Given the description of an element on the screen output the (x, y) to click on. 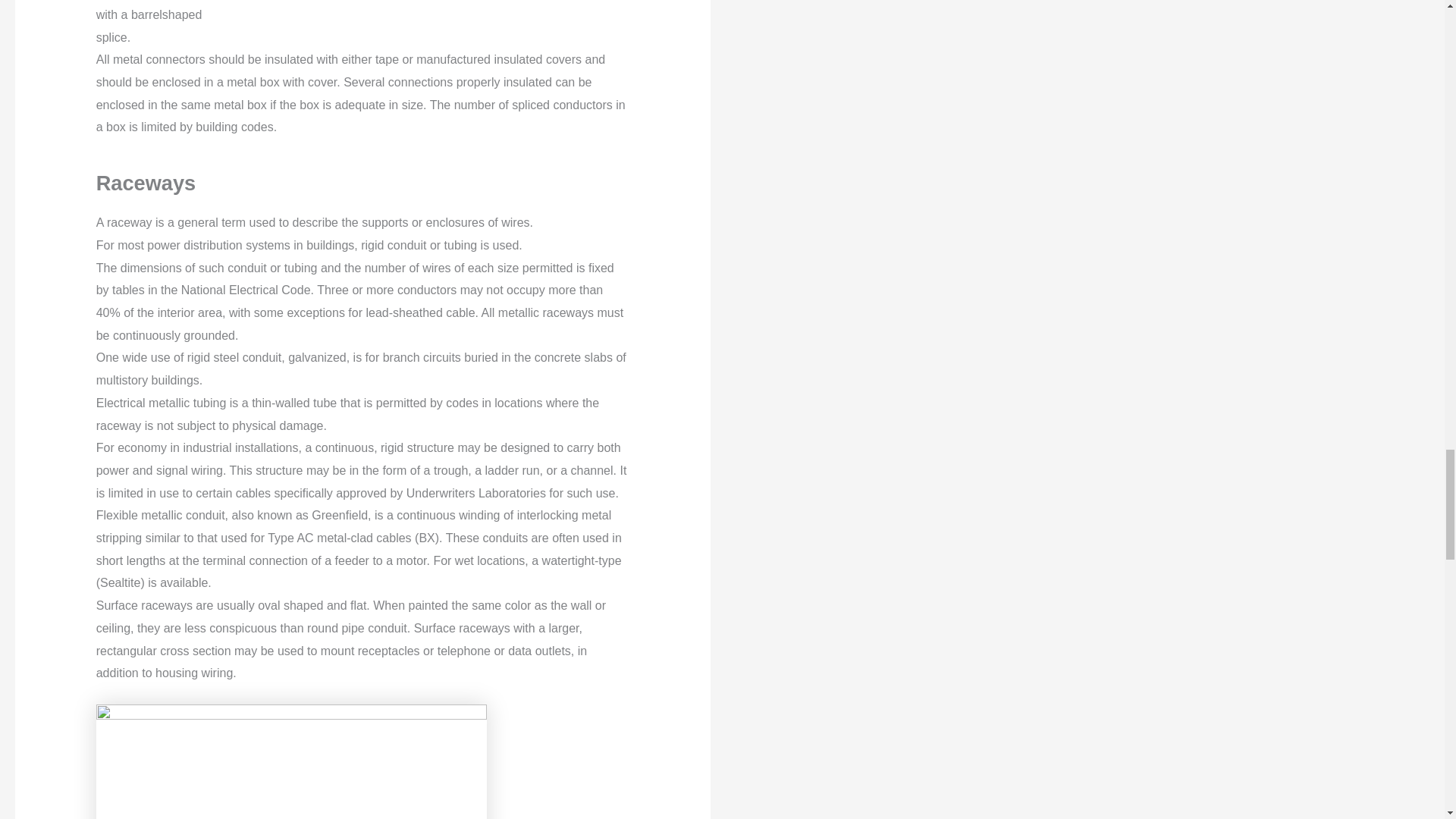
FIGURE 15.6 Cellular steel decking serves (291, 761)
